Given the description of an element on the screen output the (x, y) to click on. 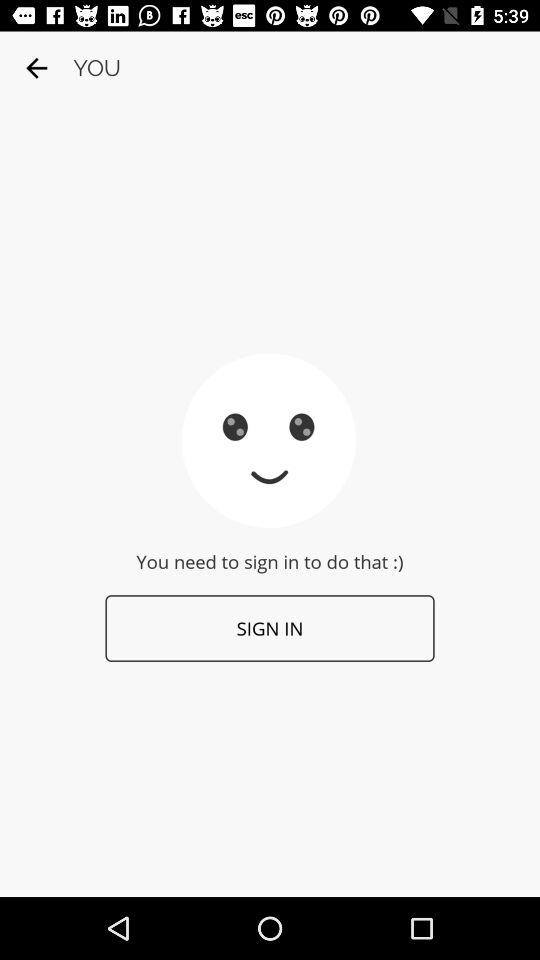
press the icon to the left of you item (36, 68)
